Given the description of an element on the screen output the (x, y) to click on. 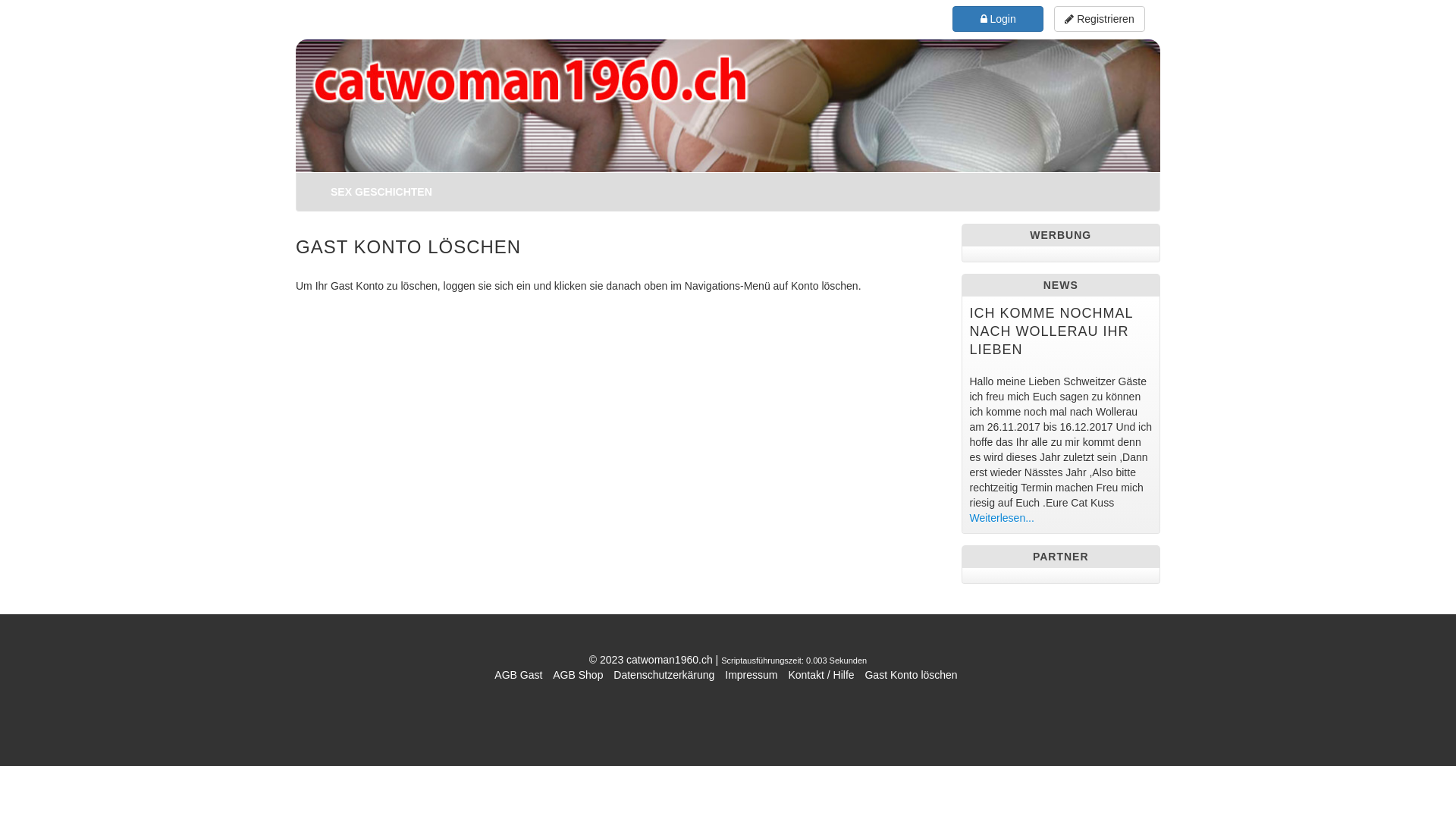
Weiterlesen... Element type: text (1001, 517)
AGB Shop Element type: text (577, 674)
AGB Gast Element type: text (518, 674)
SEX GESCHICHTEN Element type: text (381, 191)
Impressum Element type: text (750, 674)
Login Element type: text (997, 18)
Kontakt / Hilfe Element type: text (820, 674)
Registrieren Element type: text (1099, 18)
Registrieren Element type: text (1099, 18)
Login Element type: text (997, 18)
